Given the description of an element on the screen output the (x, y) to click on. 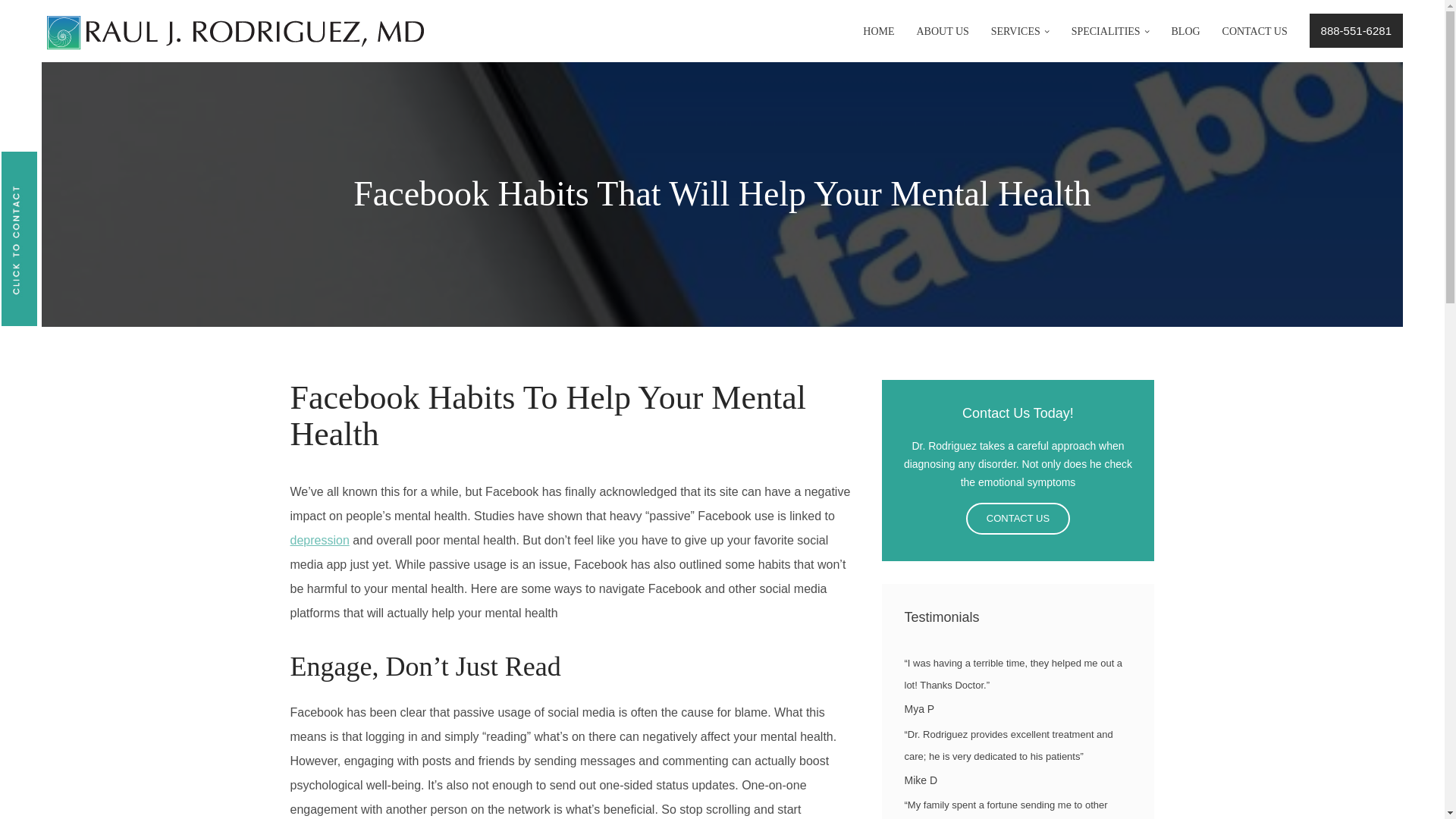
Contact Us (1018, 518)
Dr. Raul J. Rodriguez (235, 32)
SPECIALITIES (1110, 38)
CONTACT US (1018, 518)
888-551-6281 (1355, 30)
depression (319, 540)
CONTACT US (1255, 38)
ABOUT US (941, 38)
SERVICES (1020, 38)
